Given the description of an element on the screen output the (x, y) to click on. 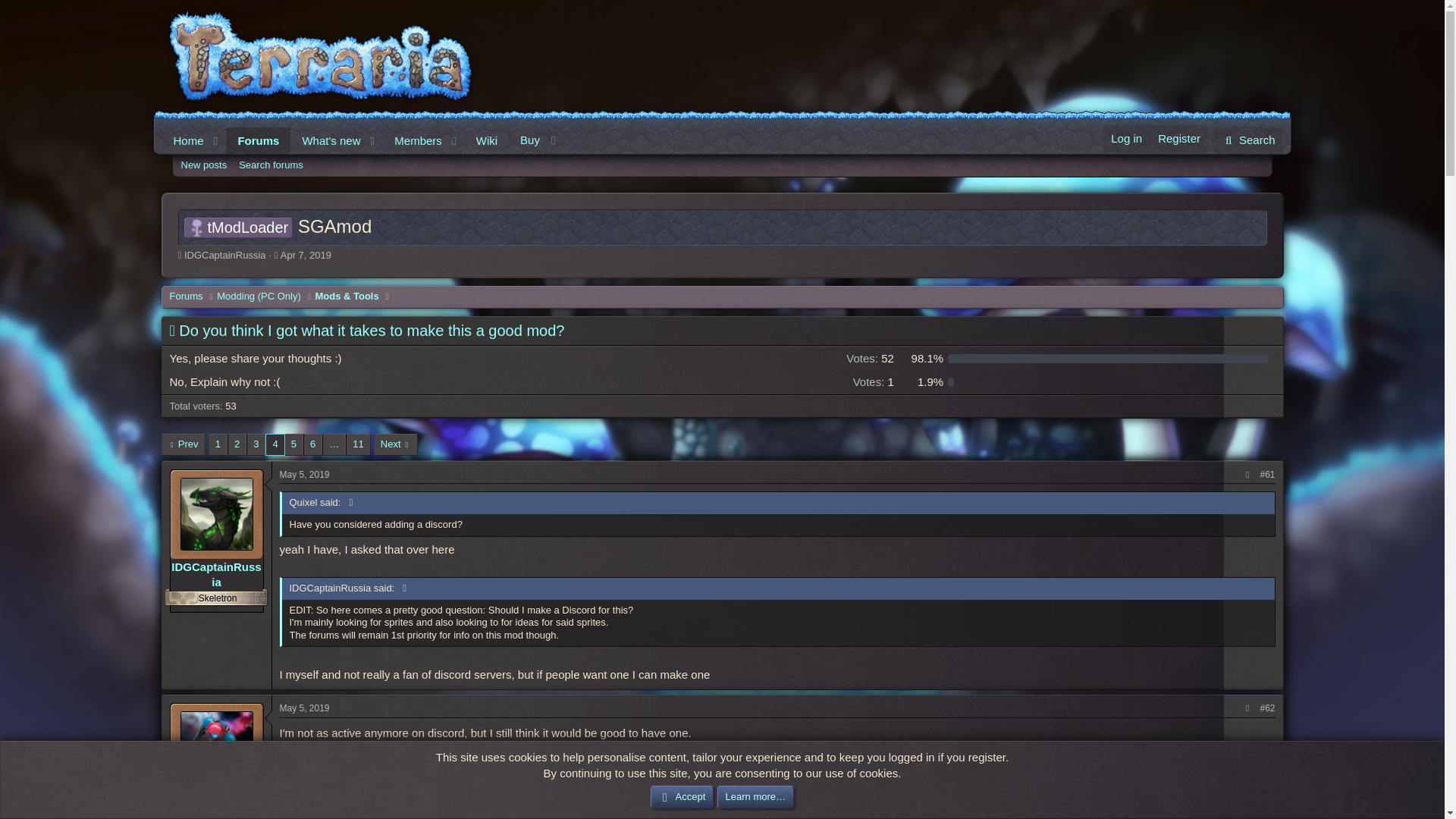
Apr 7, 2019 at 8:45 PM (306, 255)
Wiki (486, 140)
May 5, 2019 at 8:30 PM (304, 707)
Search forums (270, 165)
Search (363, 139)
May 5, 2019 at 8:22 PM (1247, 139)
New posts (304, 474)
Buy (721, 182)
Forums (203, 165)
Home (536, 139)
Like (257, 140)
What's new (183, 140)
